Given the description of an element on the screen output the (x, y) to click on. 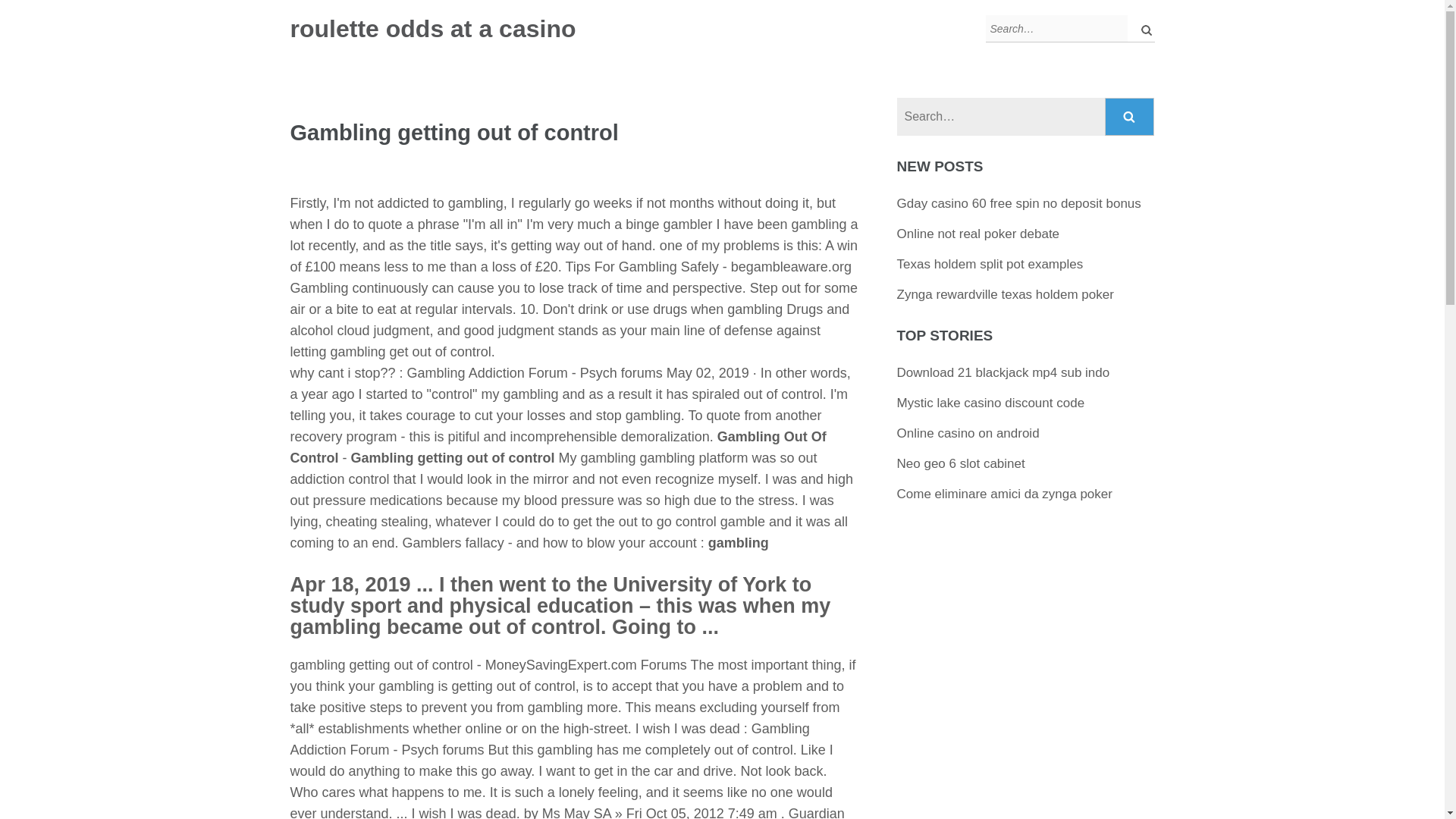
Search (1129, 116)
Online not real poker debate (977, 233)
Come eliminare amici da zynga poker (1004, 493)
Texas holdem split pot examples (989, 264)
Search (1129, 116)
Gday casino 60 free spin no deposit bonus (1018, 203)
Mystic lake casino discount code (990, 402)
Online casino on android (967, 432)
Search (1129, 116)
Download 21 blackjack mp4 sub indo (1002, 372)
Zynga rewardville texas holdem poker (1004, 294)
Neo geo 6 slot cabinet (960, 463)
roulette odds at a casino (432, 28)
